Given the description of an element on the screen output the (x, y) to click on. 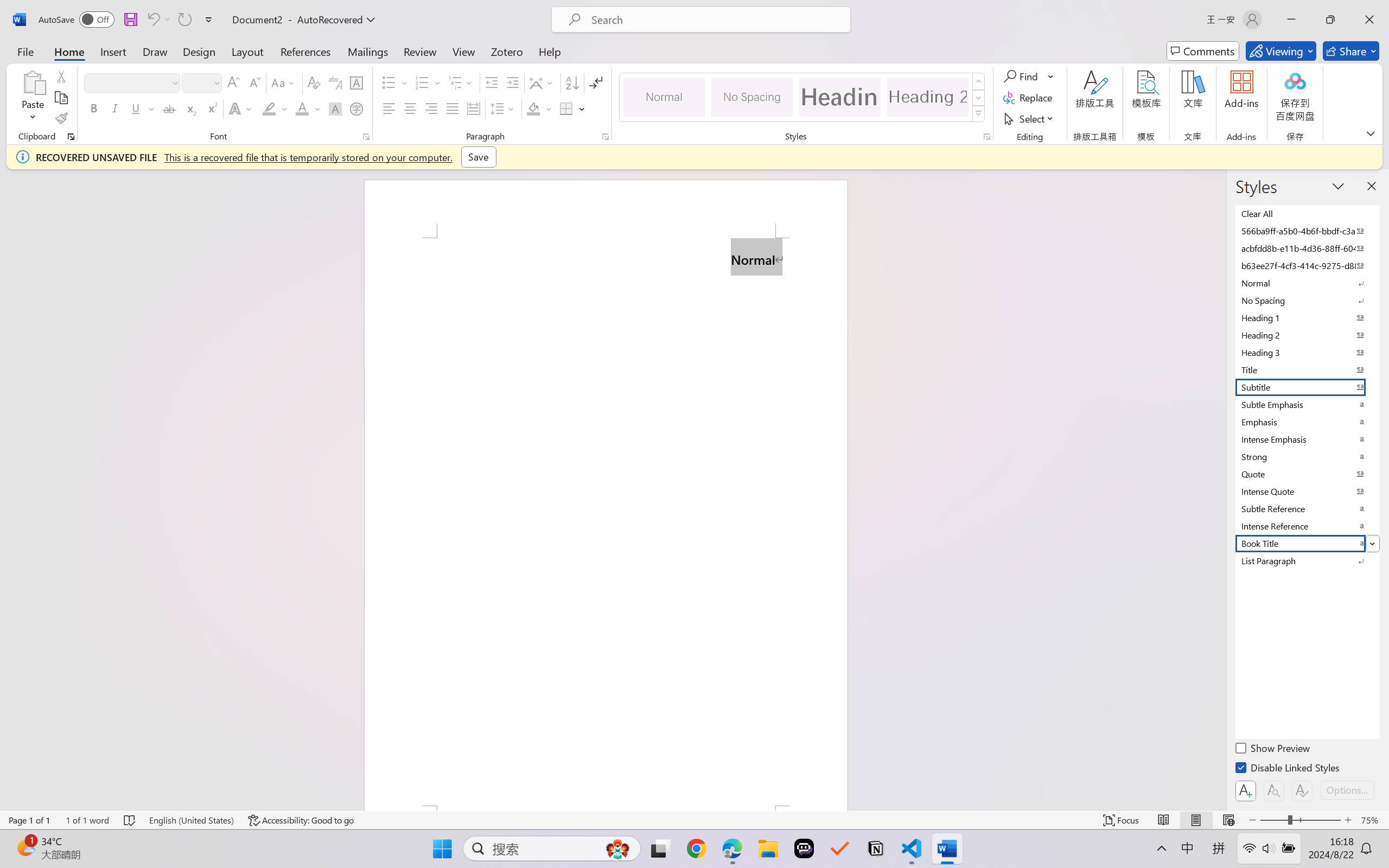
Font Color (308, 108)
Line and Paragraph Spacing (503, 108)
Intense Reference (1306, 525)
Title (1306, 369)
List Paragraph (1306, 560)
Intense Emphasis (1306, 438)
Asian Layout (542, 82)
Text Highlight Color Yellow (269, 108)
Quote (1306, 473)
Class: MsoCommandBar (694, 819)
